Given the description of an element on the screen output the (x, y) to click on. 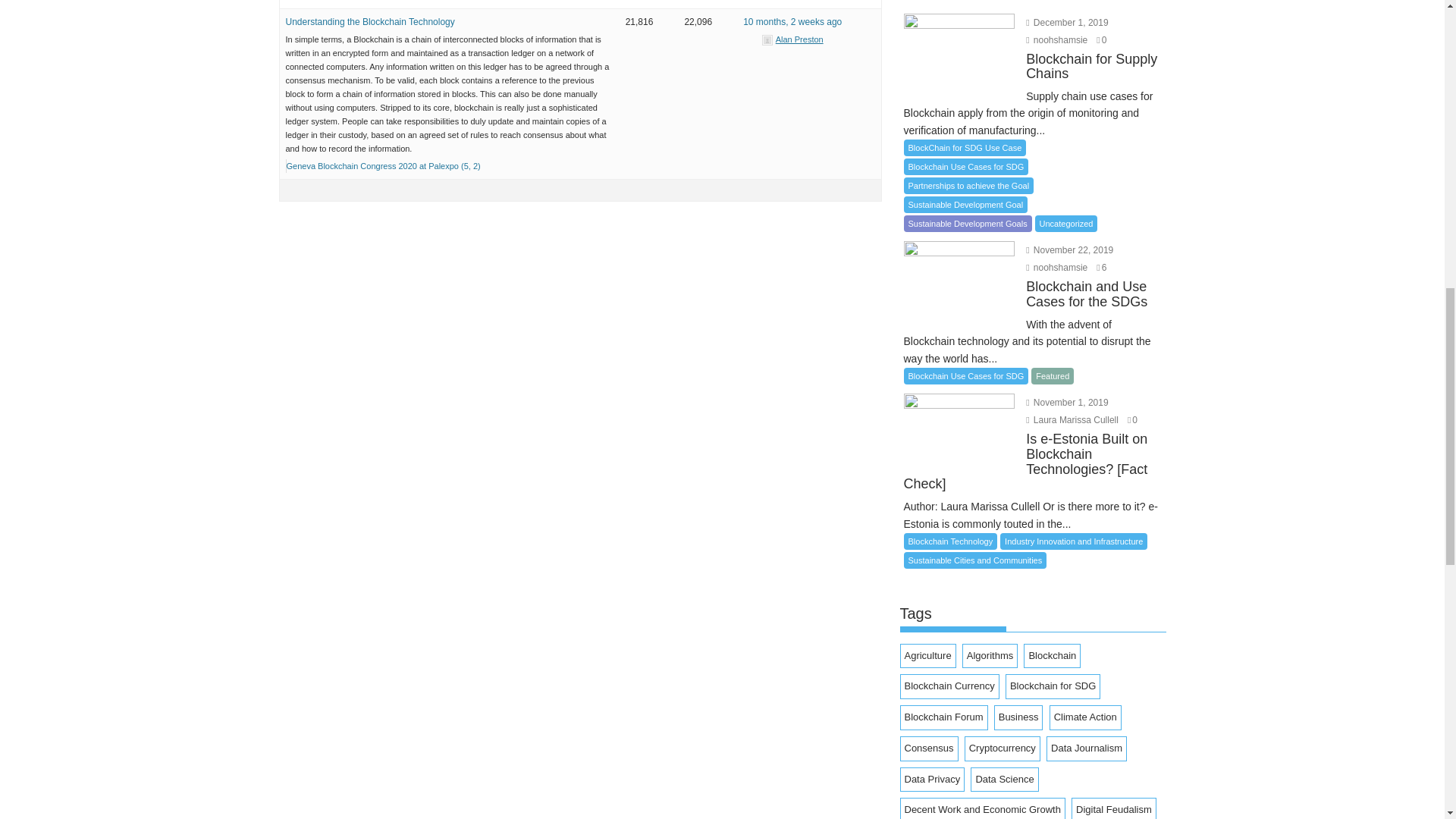
Understanding the Blockchain Technology (369, 21)
Alan Preston (792, 39)
10 months, 2 weeks ago (791, 21)
Dog House (791, 21)
